Given the description of an element on the screen output the (x, y) to click on. 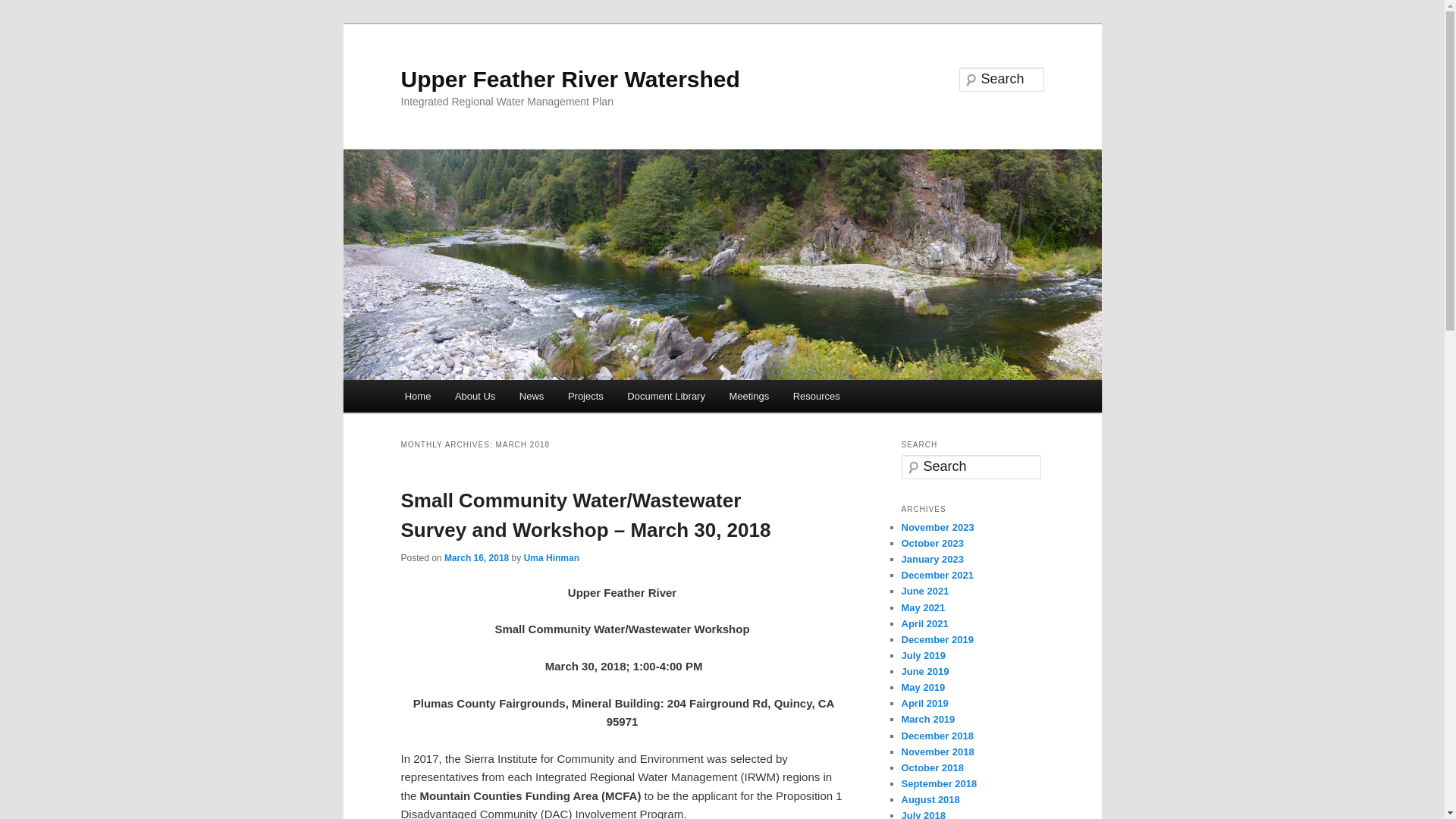
Meetings (748, 396)
March 16, 2018 (476, 557)
News (531, 396)
Upper Feather River Watershed (569, 78)
Search (24, 8)
6:42 pm (476, 557)
Home (417, 396)
Document Library (666, 396)
About Us (474, 396)
